Given the description of an element on the screen output the (x, y) to click on. 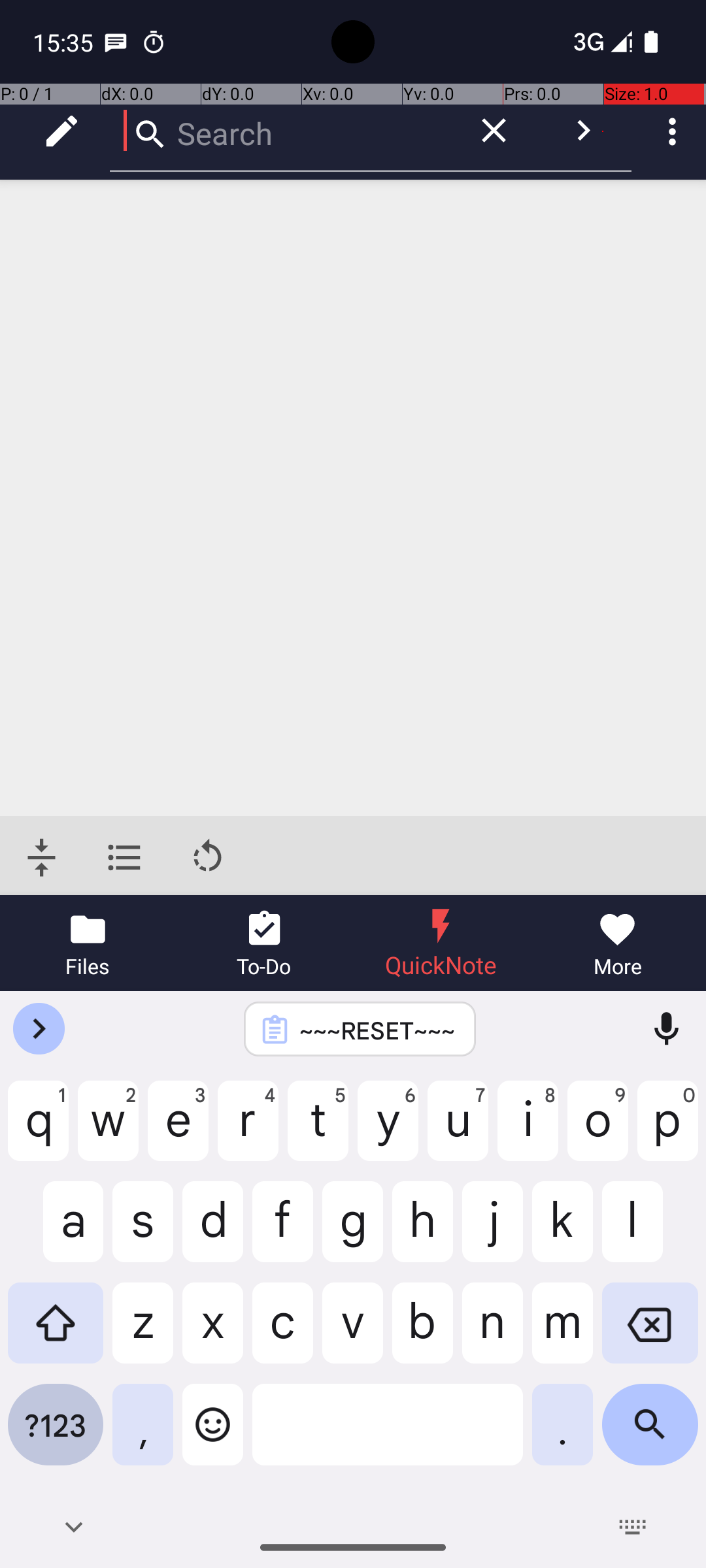
   Search Element type: android.widget.AutoCompleteTextView (280, 130)
Submit query Element type: android.widget.ImageView (583, 130)
